Given the description of an element on the screen output the (x, y) to click on. 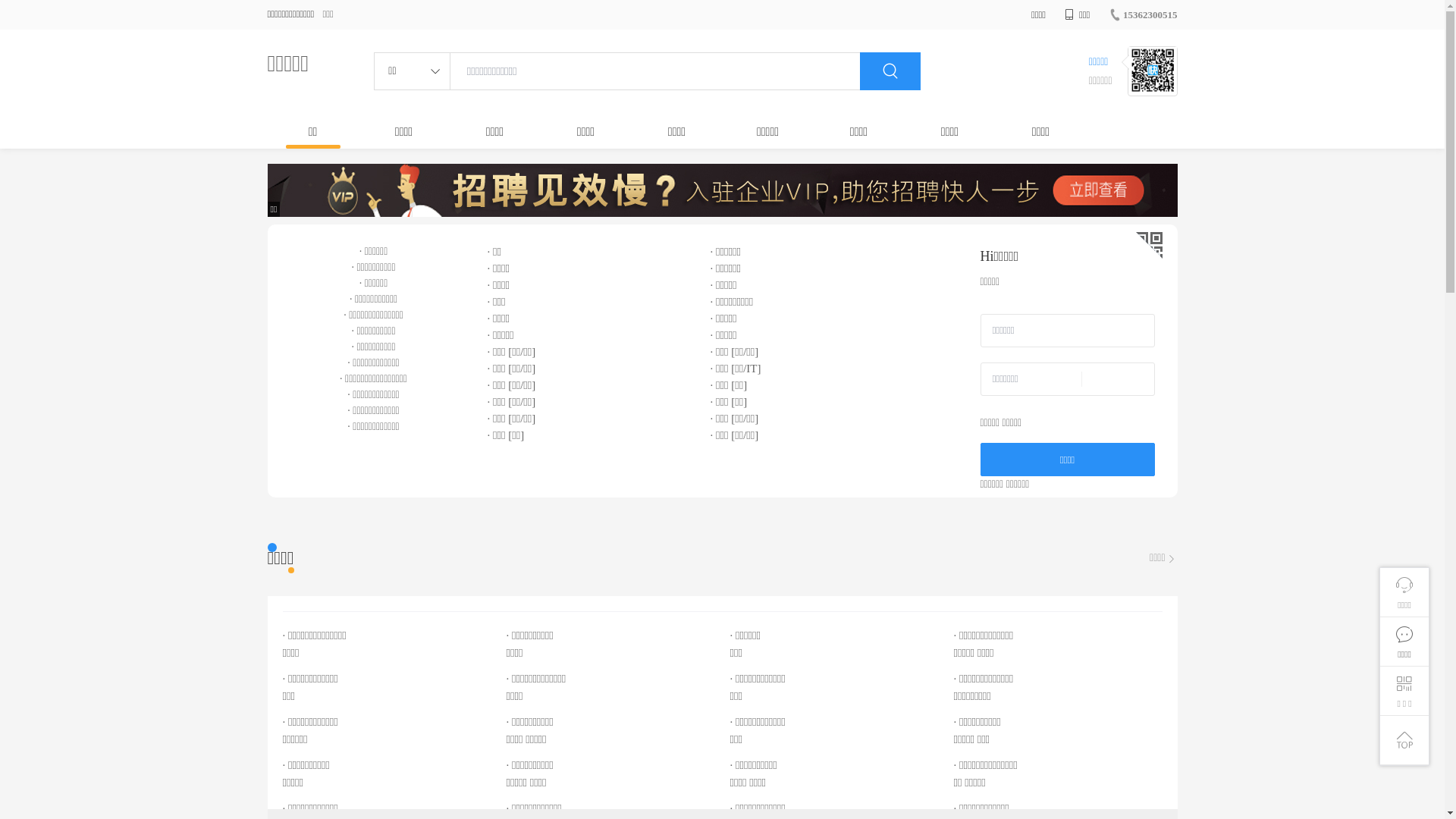
15362300515 Element type: text (1142, 14)
